Given the description of an element on the screen output the (x, y) to click on. 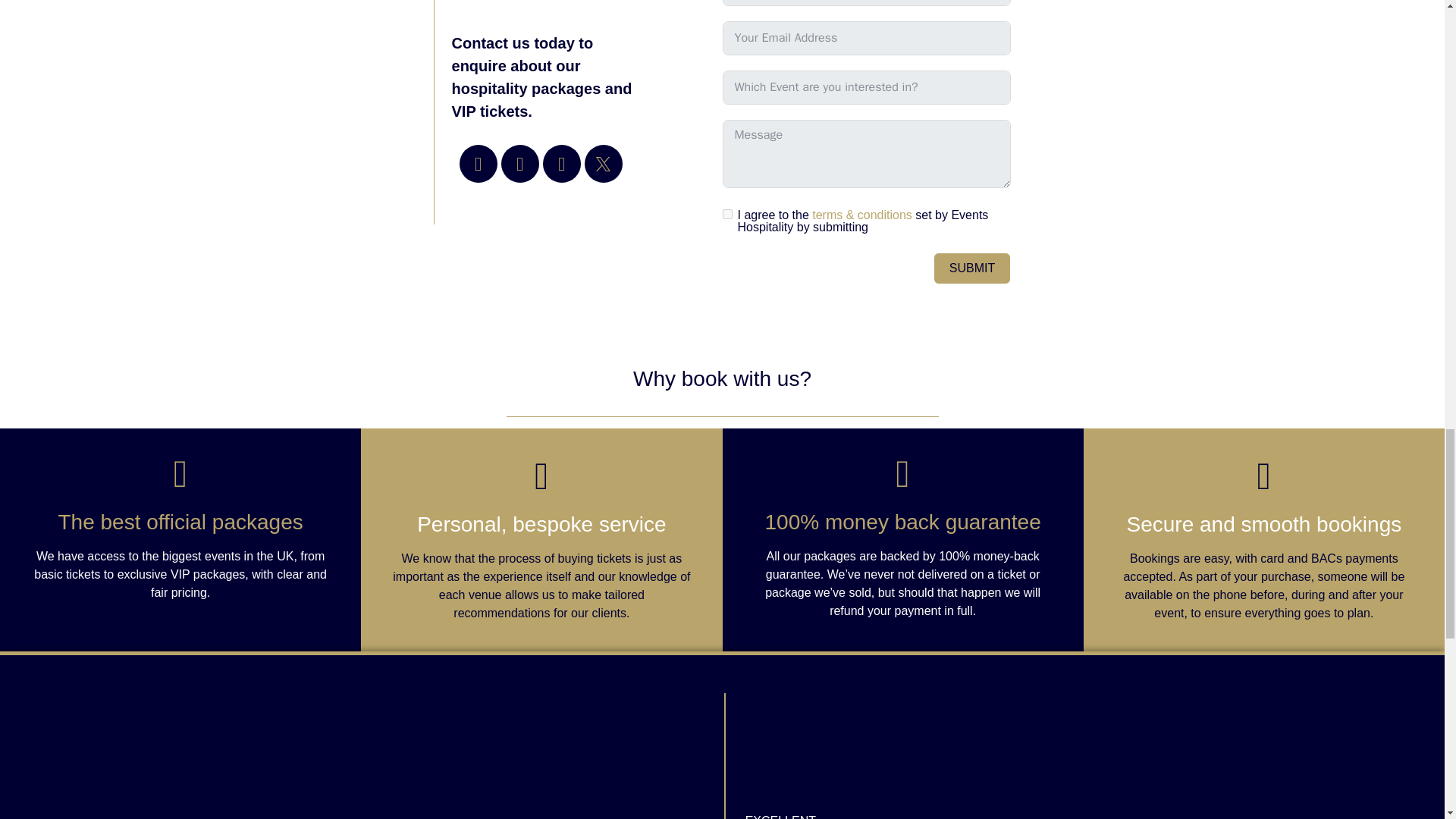
on (727, 214)
Review Rating (800, 749)
Events Hospitality (586, 749)
